Given the description of an element on the screen output the (x, y) to click on. 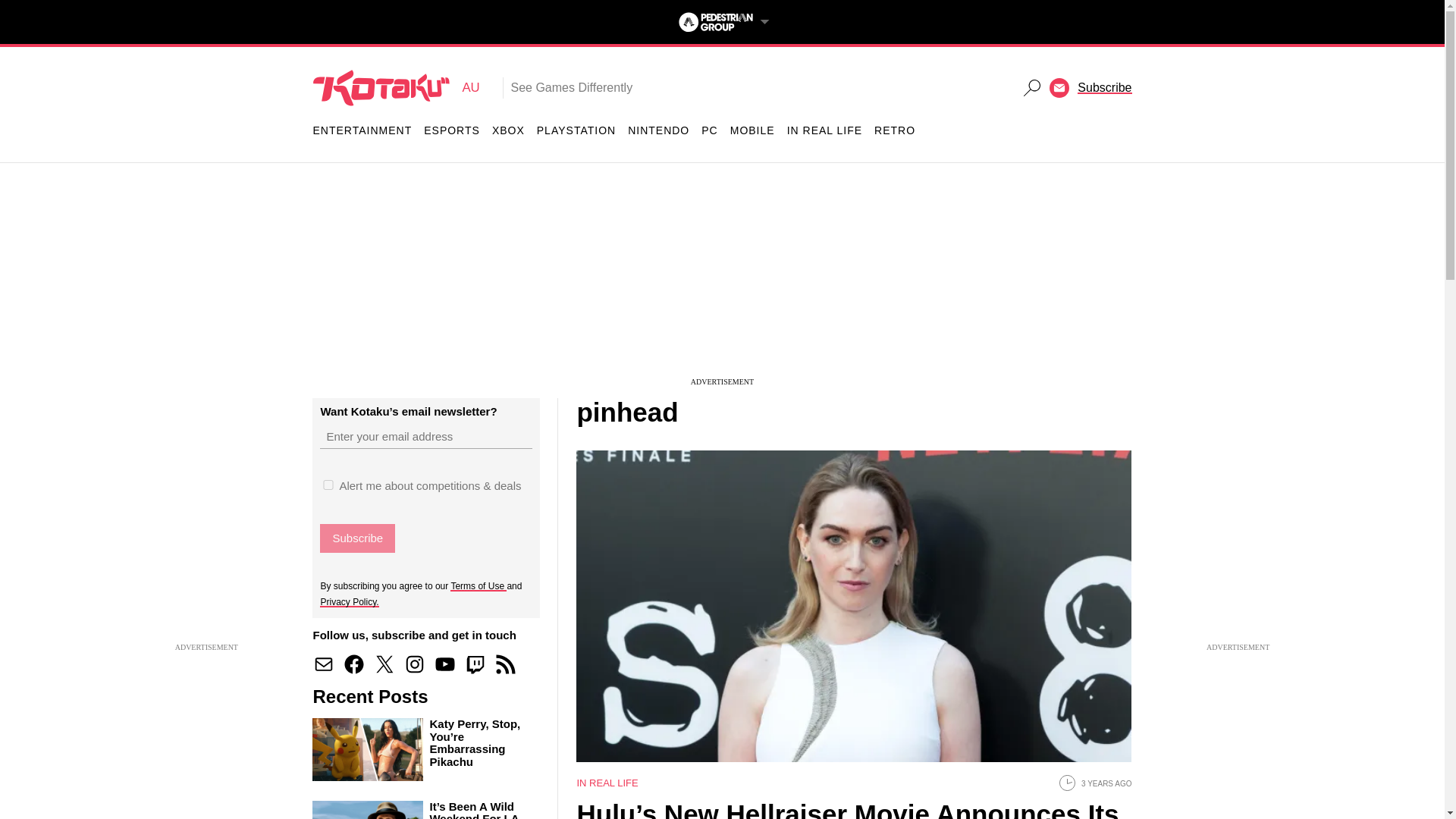
ESPORTS (451, 130)
feed (396, 87)
facebook (505, 663)
Privacy Policy. (353, 663)
PLAYSTATION (349, 601)
instagram (576, 130)
Subscribe (414, 663)
3rd party ad content (357, 538)
Subscribe (323, 663)
Subscribe (1104, 87)
ENTERTAINMENT (357, 538)
Terms of Use (362, 130)
X (477, 585)
